Given the description of an element on the screen output the (x, y) to click on. 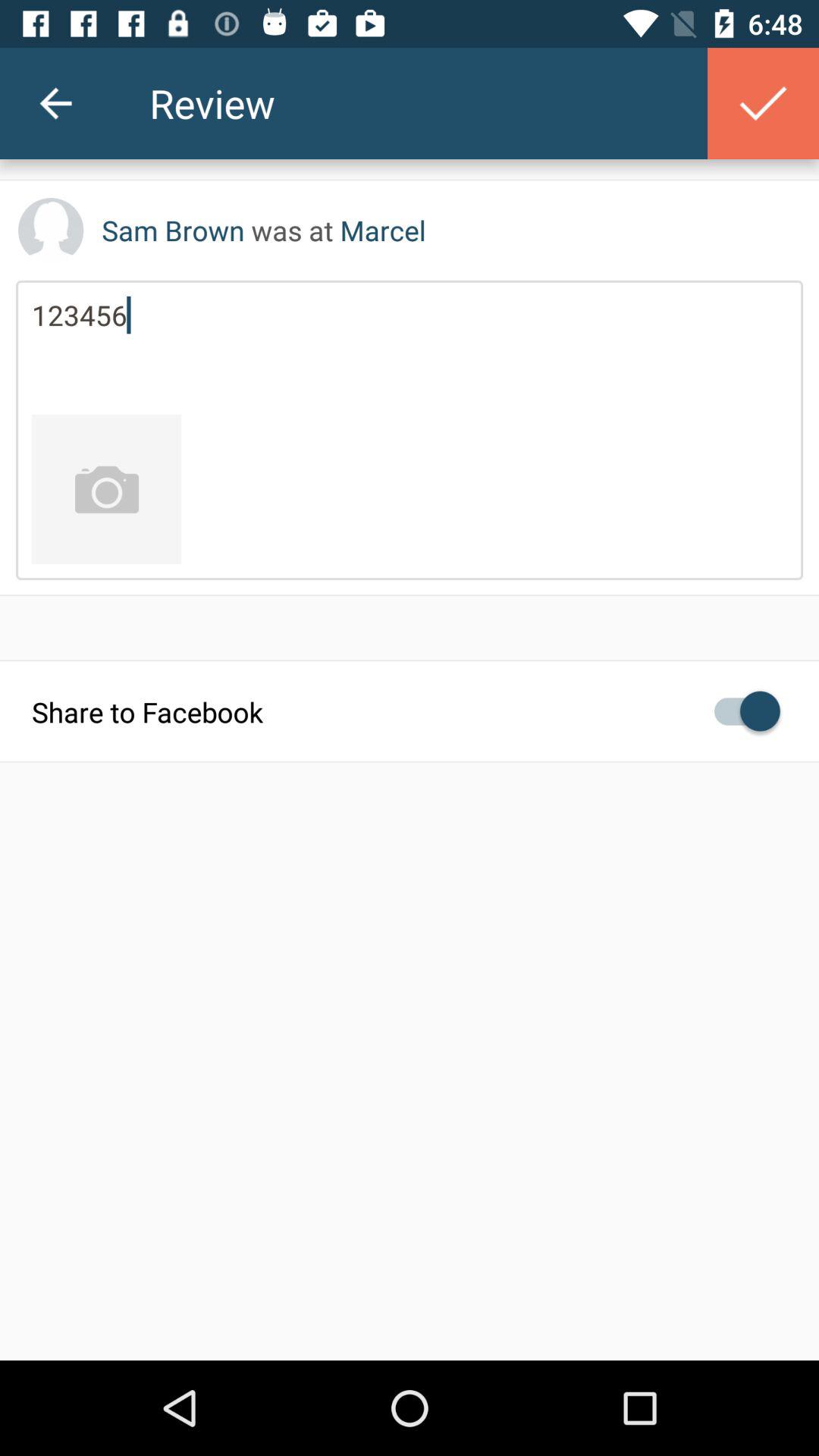
click item below sam brown was icon (409, 347)
